Given the description of an element on the screen output the (x, y) to click on. 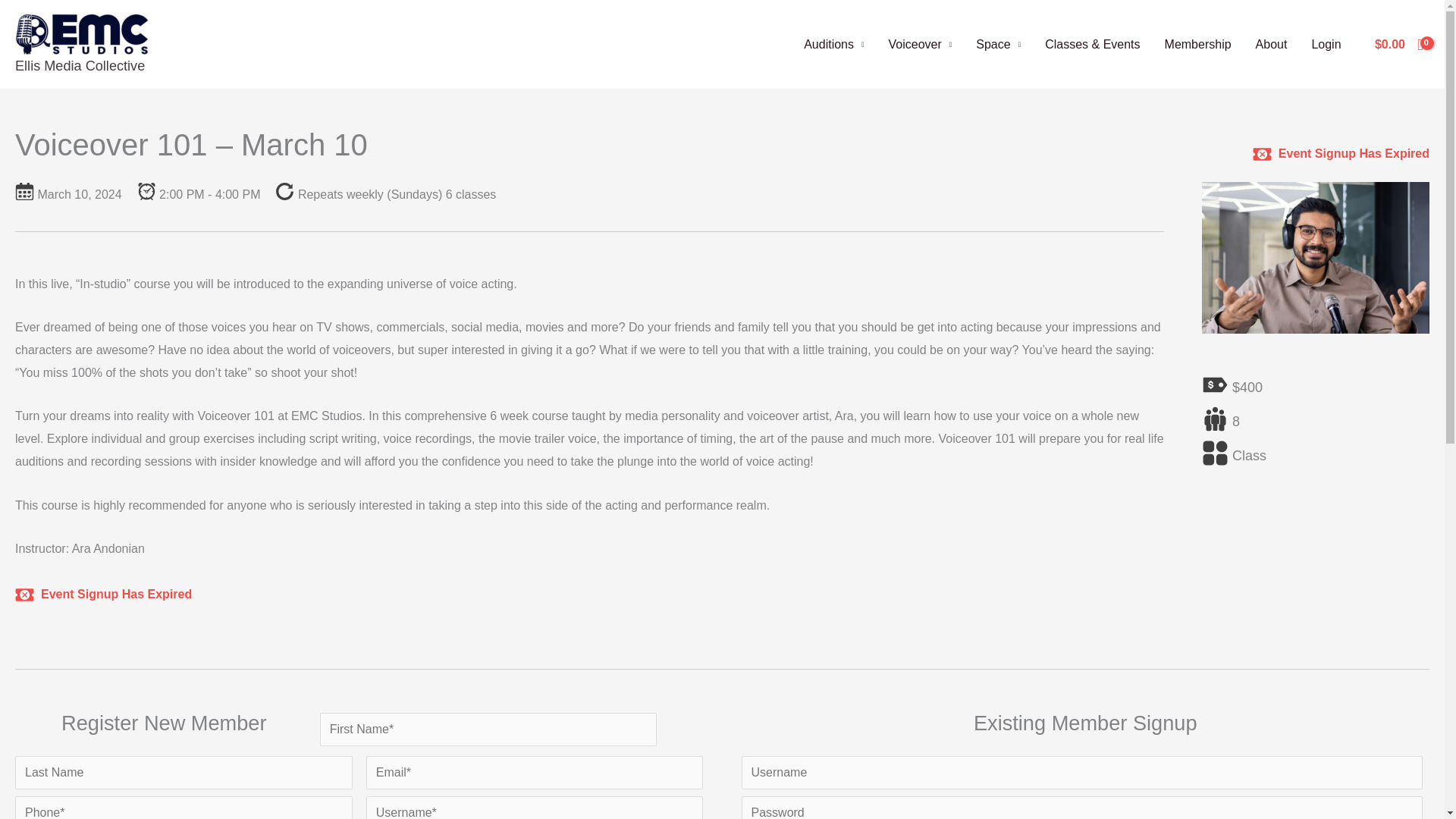
Membership (1198, 44)
Space (997, 44)
Login (1325, 44)
Event Cost (1215, 384)
Voiceover (919, 44)
About (1271, 44)
Auditions (834, 44)
Spots Left (1215, 418)
